Given the description of an element on the screen output the (x, y) to click on. 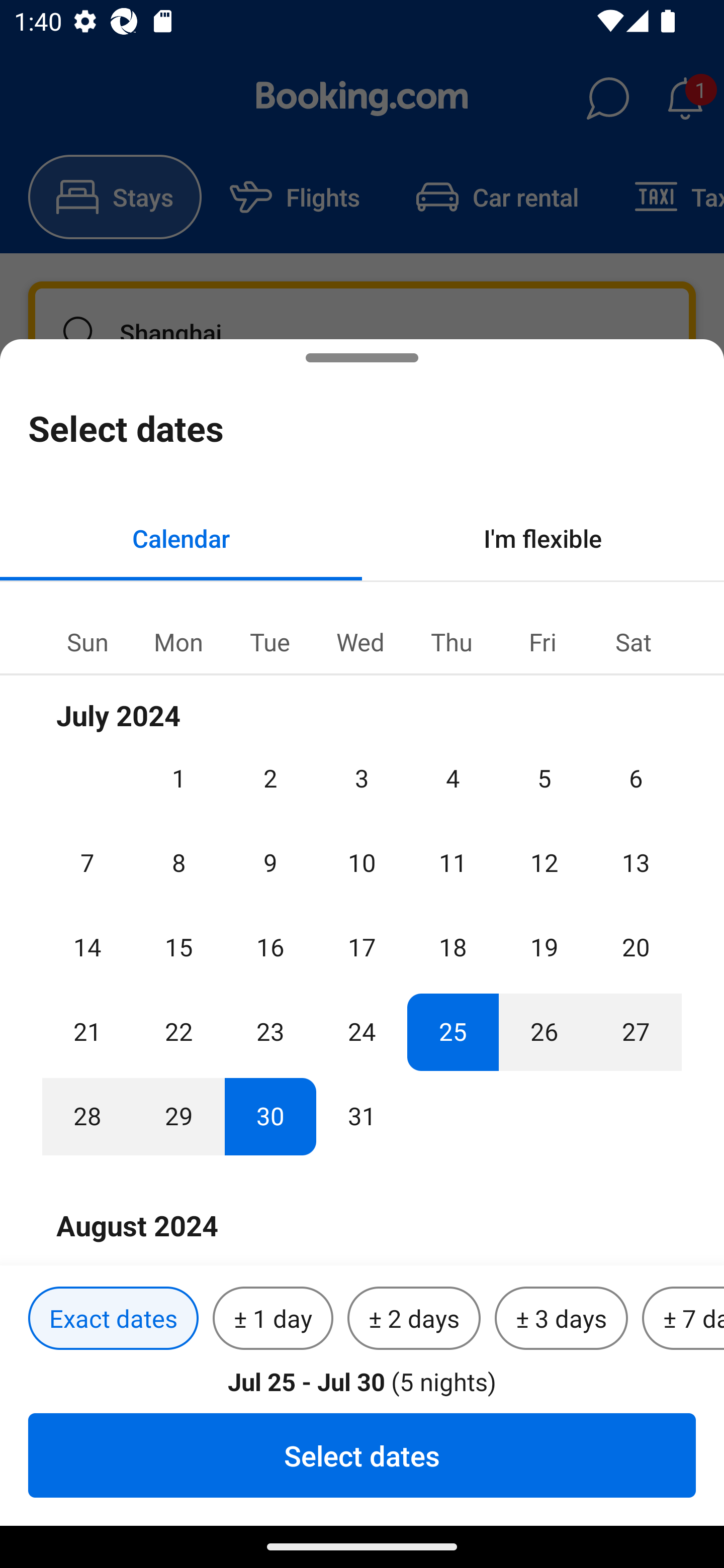
I'm flexible (543, 537)
Exact dates (113, 1318)
± 1 day (272, 1318)
± 2 days (413, 1318)
± 3 days (560, 1318)
± 7 days (683, 1318)
Select dates (361, 1454)
